Given the description of an element on the screen output the (x, y) to click on. 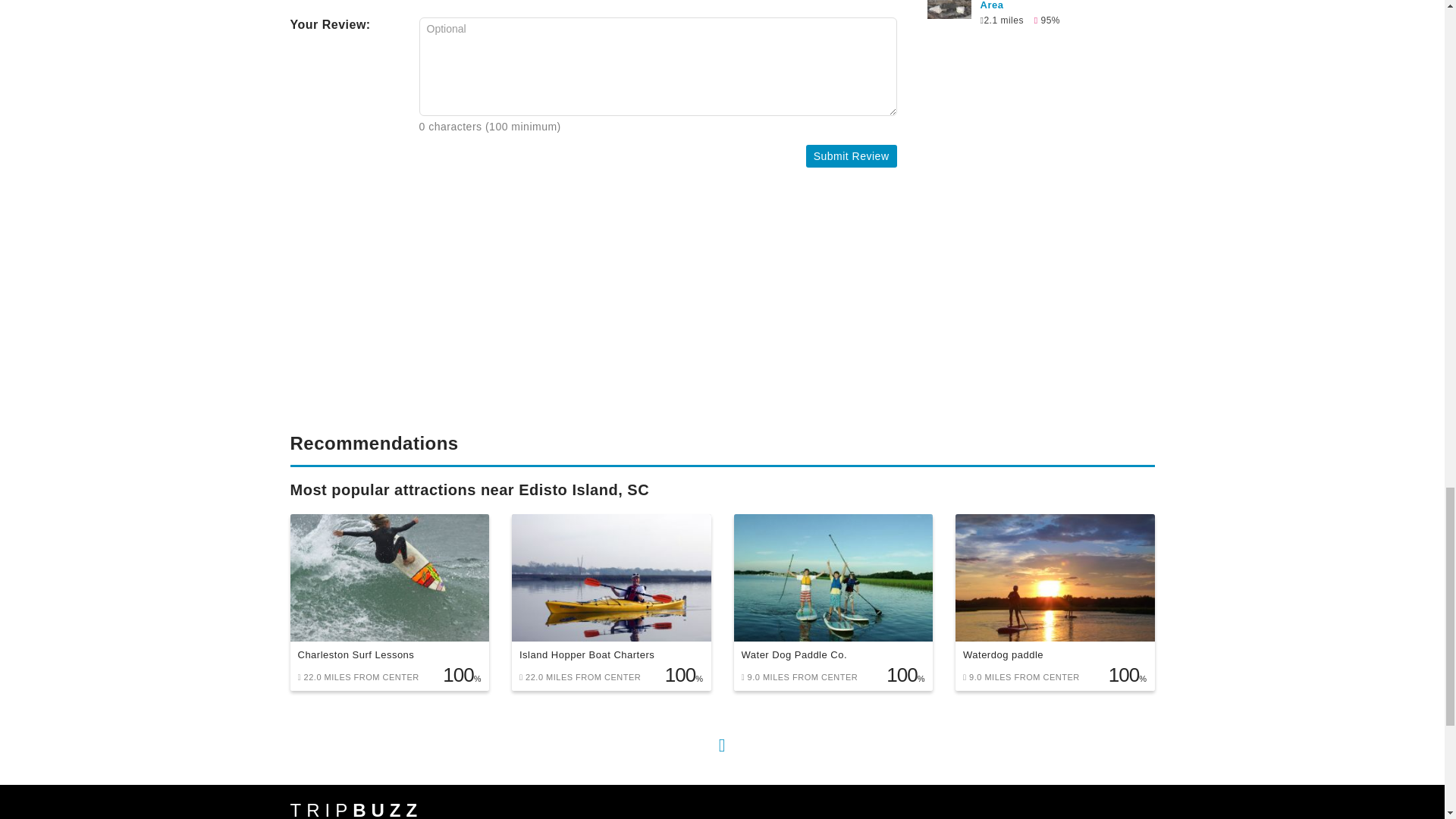
Advertisement (592, 311)
Submit Review (851, 155)
TRIPBUZZ (355, 810)
